Given the description of an element on the screen output the (x, y) to click on. 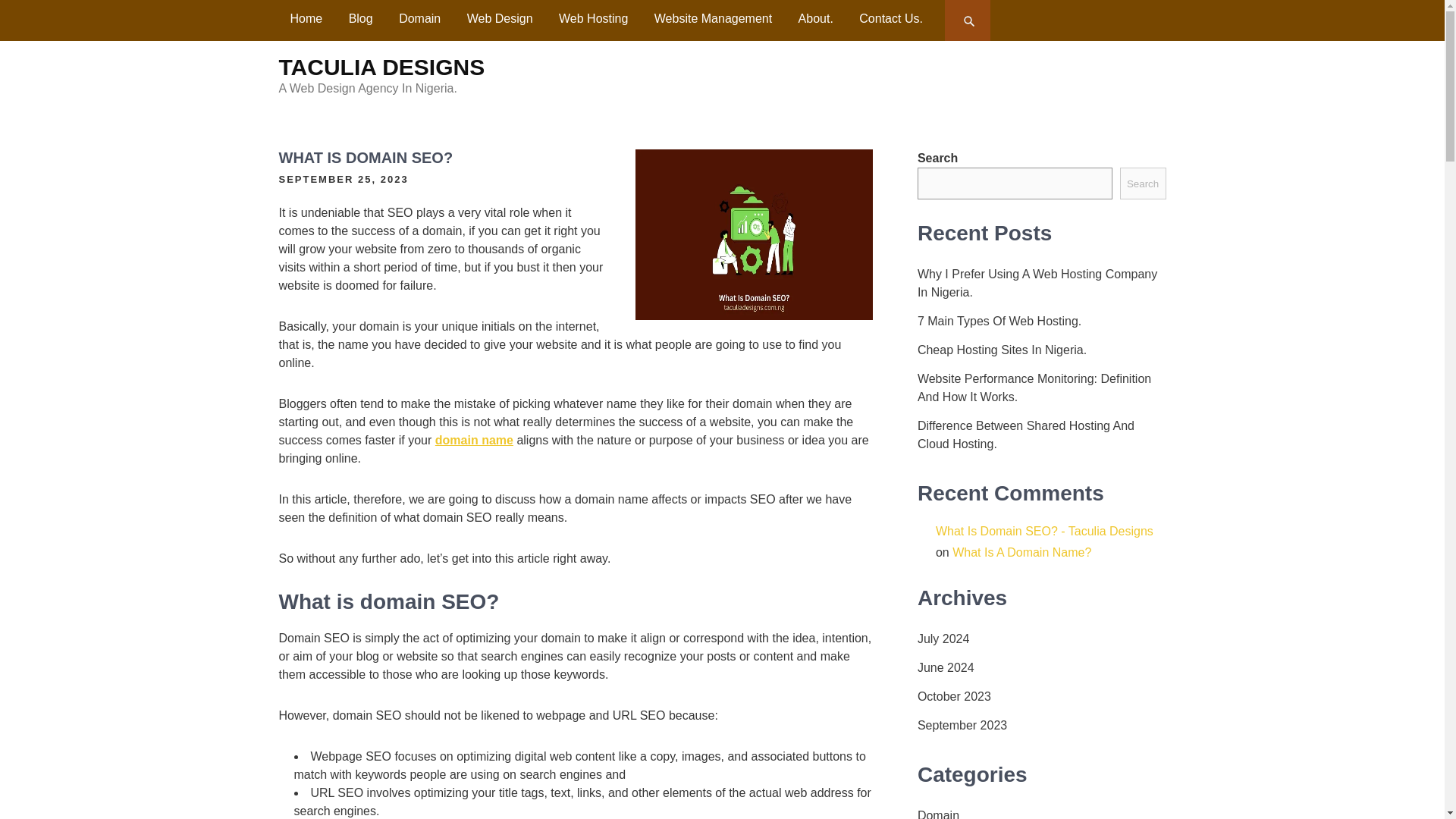
Why I Prefer Using A Web Hosting Company In Nigeria. (1041, 283)
Domain (938, 812)
Blog (360, 18)
Cheap Hosting Sites In Nigeria. (1001, 350)
June 2024 (945, 668)
Contact Us. (890, 18)
July 2024 (943, 638)
About. (815, 18)
What Is Domain SEO? - Taculia Designs (1044, 530)
Web Hosting (593, 18)
Search (969, 20)
October 2023 (954, 696)
Domain (419, 18)
Search (969, 20)
Web Design (499, 18)
